Given the description of an element on the screen output the (x, y) to click on. 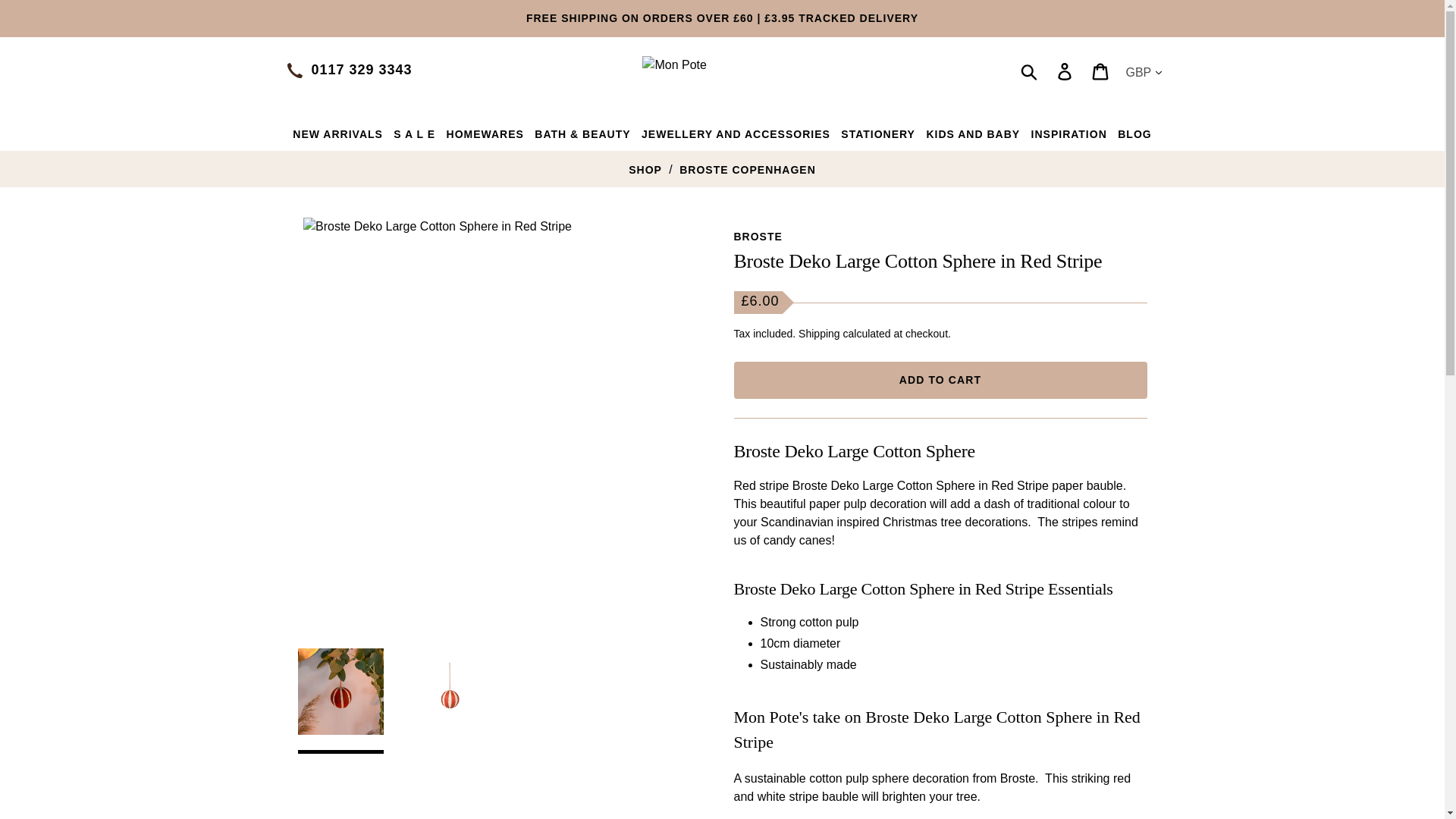
0117 329 3343 (361, 69)
